Given the description of an element on the screen output the (x, y) to click on. 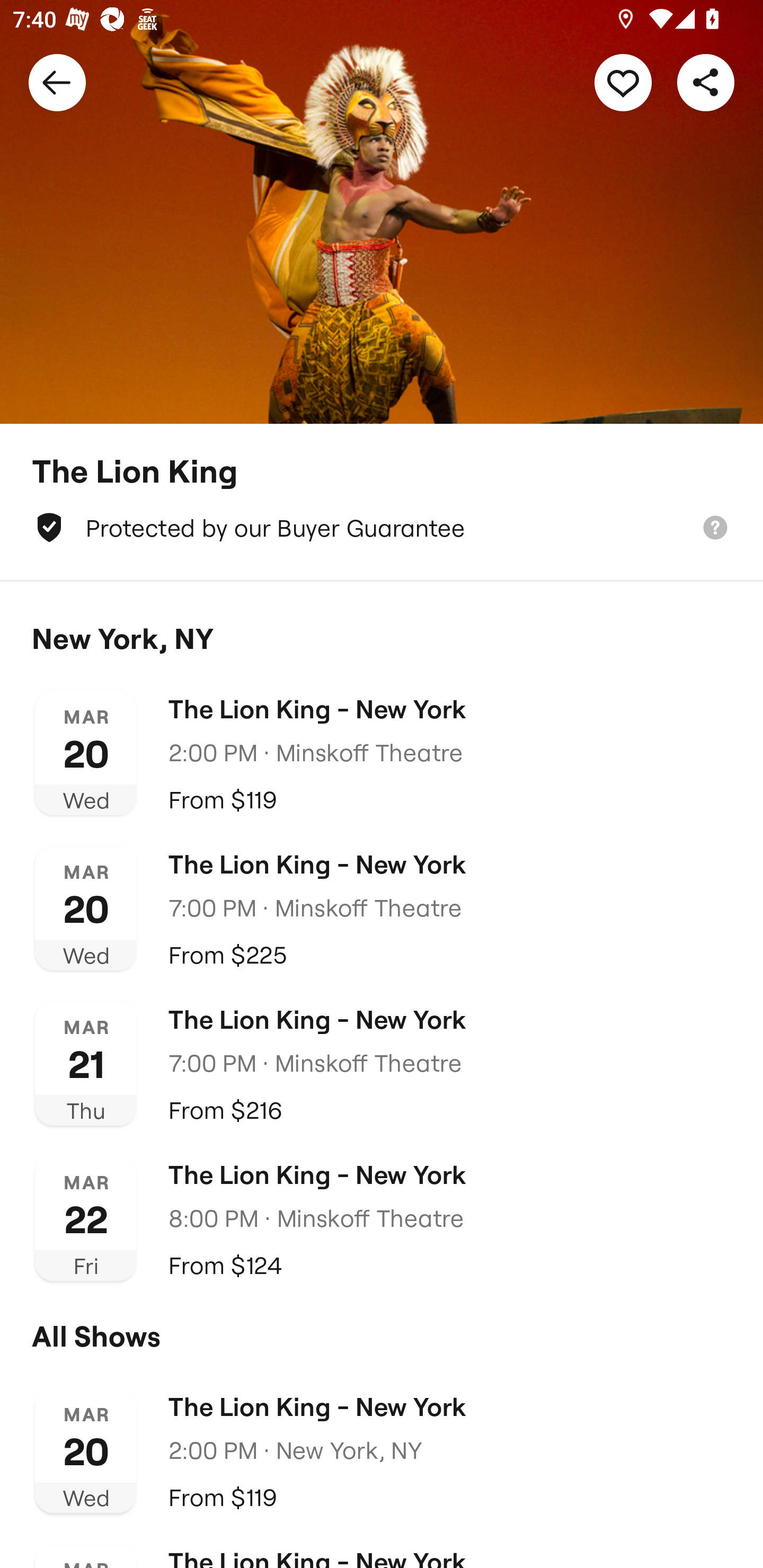
Back (57, 81)
Track this performer (623, 81)
Share this performer (705, 81)
Protected by our Buyer Guarantee Learn more (381, 527)
